Given the description of an element on the screen output the (x, y) to click on. 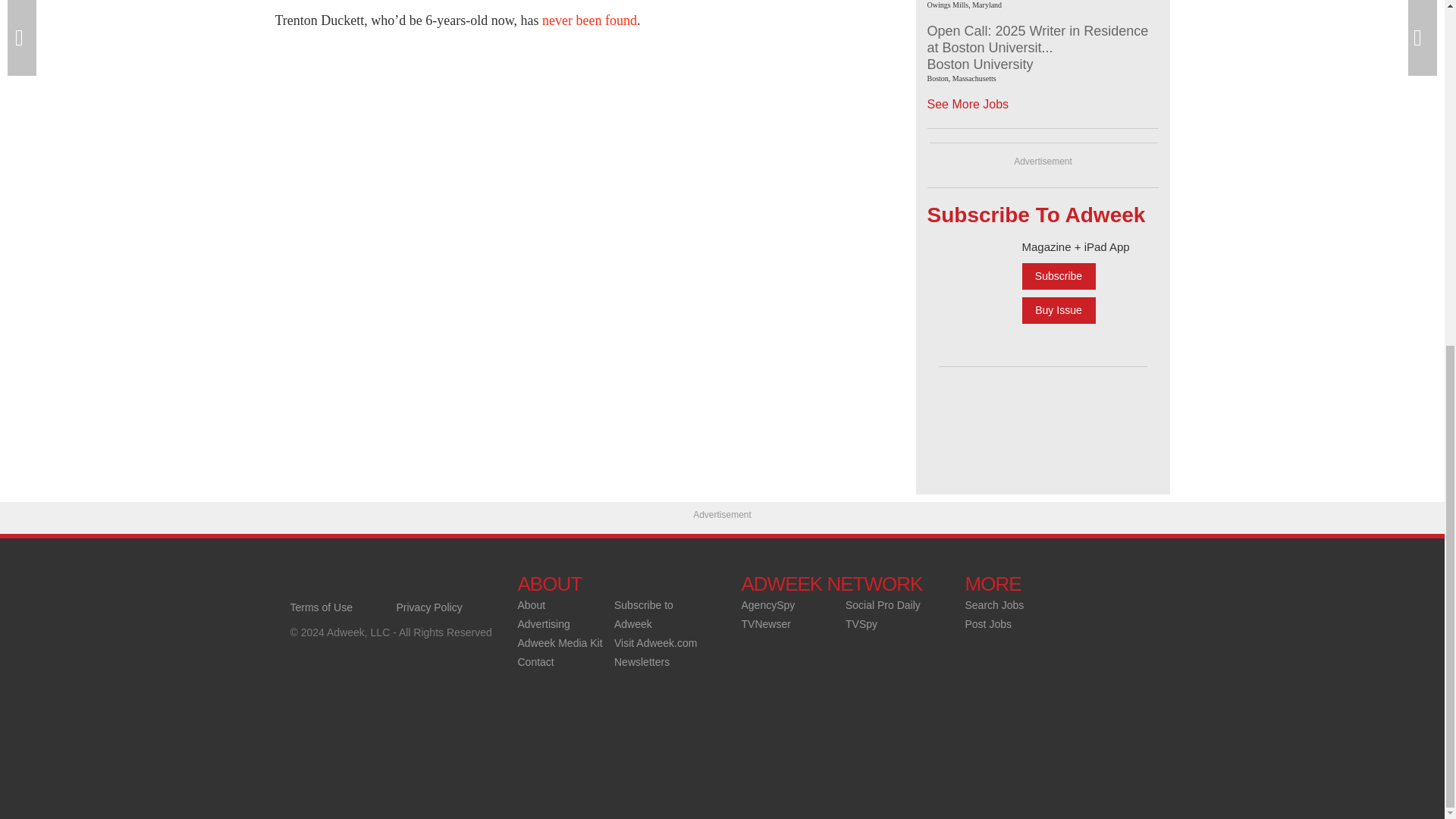
Covering national television news (395, 583)
